Given the description of an element on the screen output the (x, y) to click on. 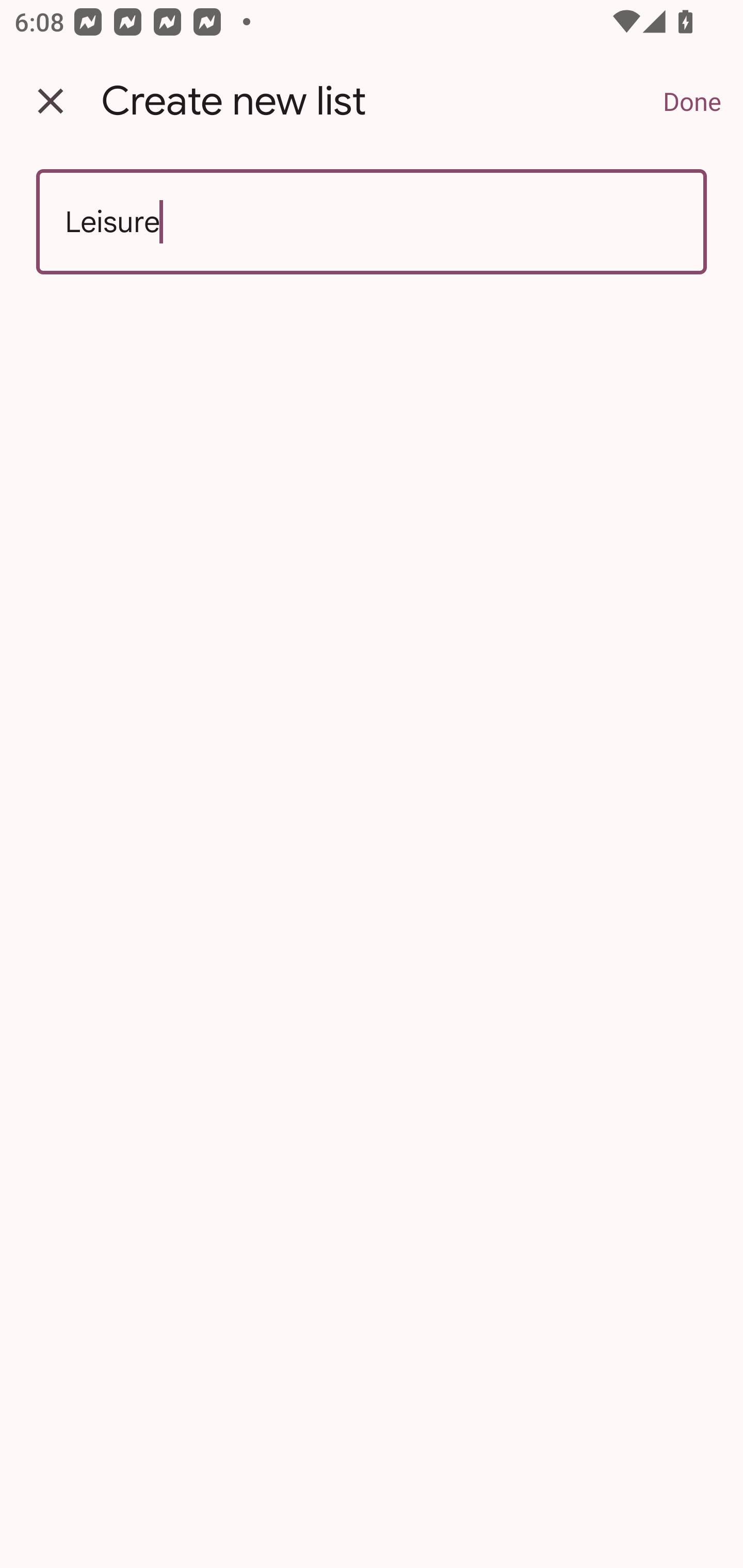
Back (50, 101)
Done (692, 101)
Leisure (371, 221)
